Given the description of an element on the screen output the (x, y) to click on. 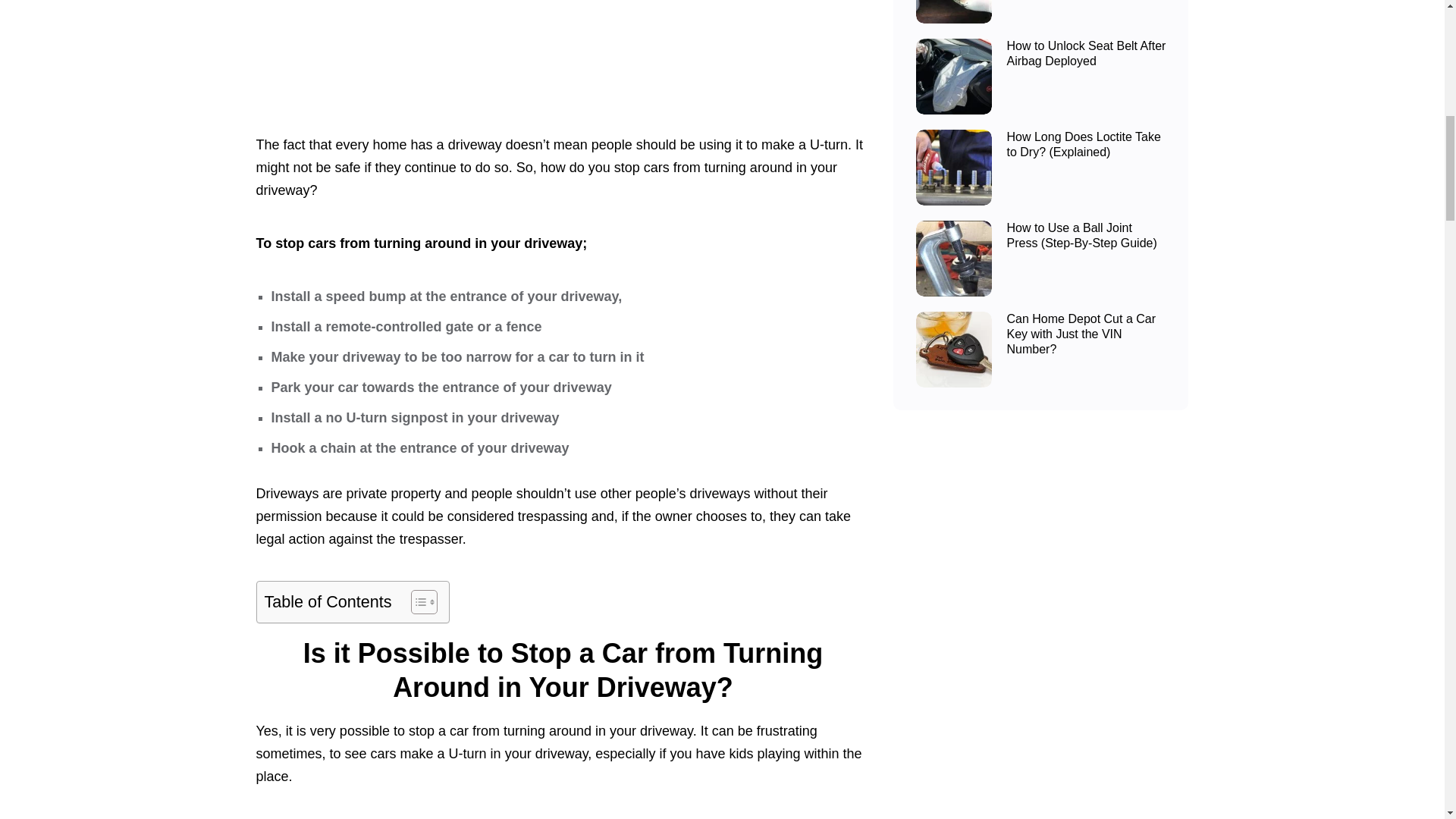
your driveway (546, 753)
